Given the description of an element on the screen output the (x, y) to click on. 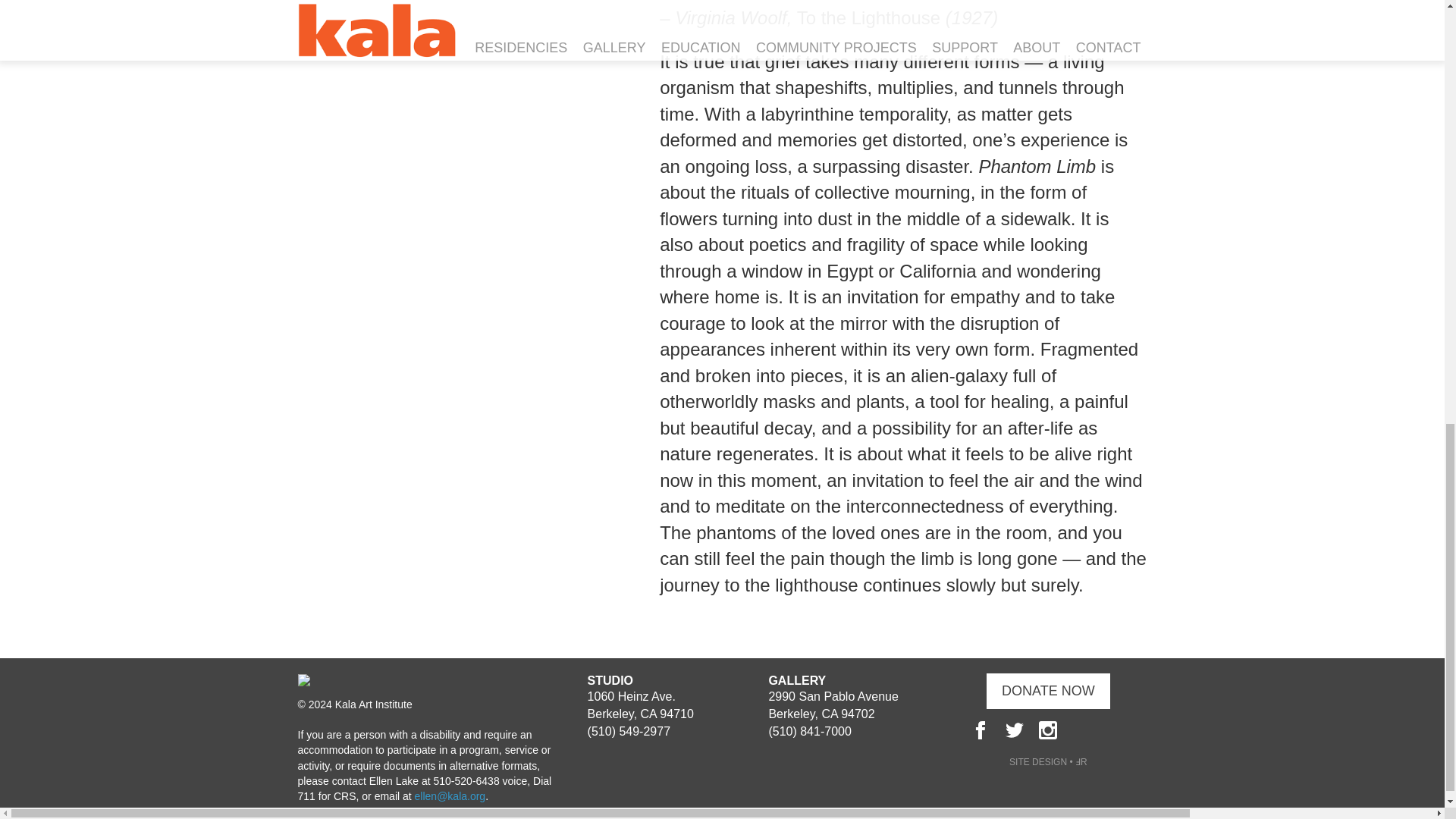
Facebook (980, 730)
Vimeo (1115, 730)
Instagram (1048, 730)
Artsy (1081, 730)
Twitter (1014, 730)
Kala Art Institute (302, 681)
Website Design by Future Reference (1048, 761)
